Given the description of an element on the screen output the (x, y) to click on. 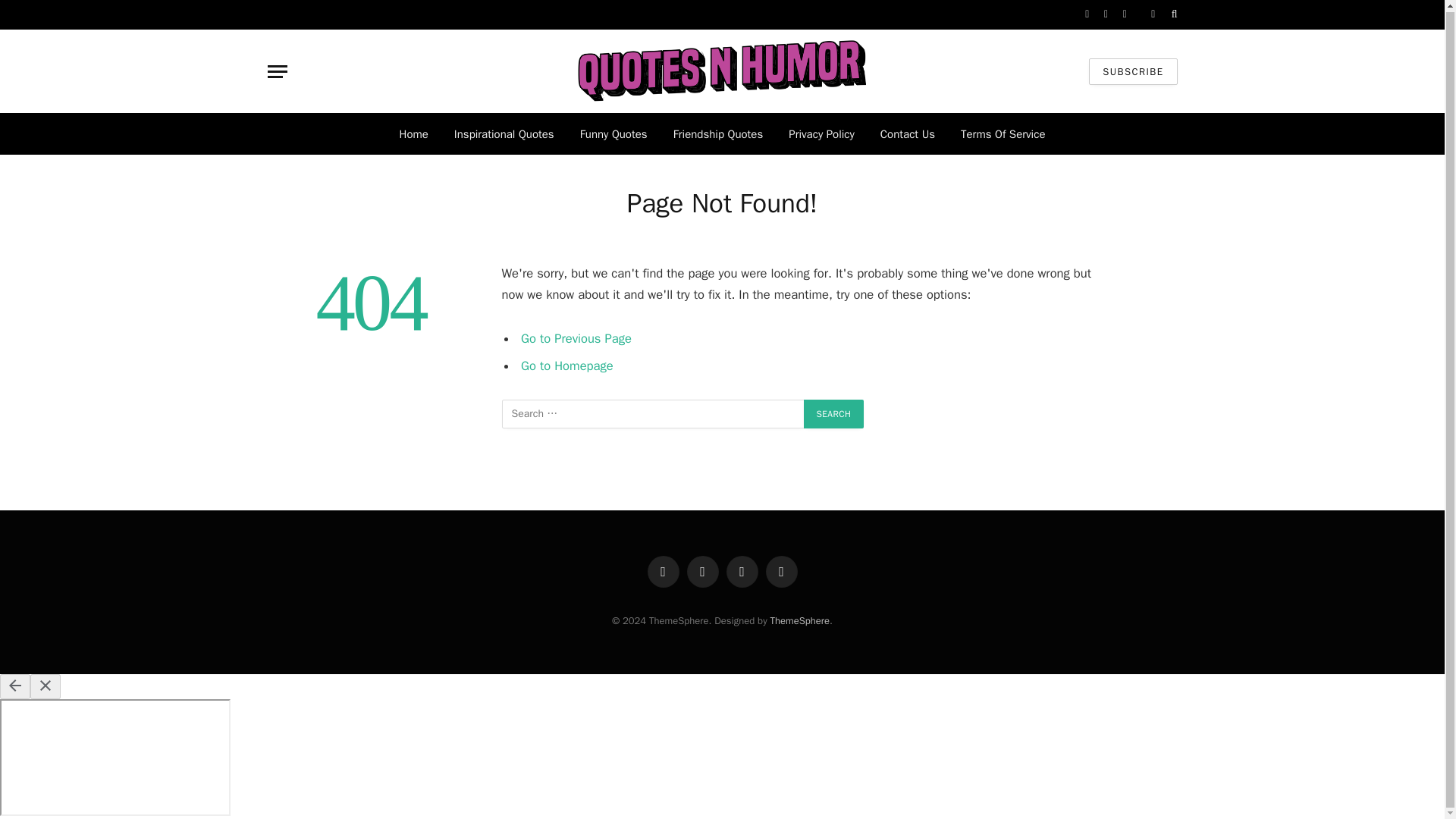
Switch to Dark Design - easier on eyes. (1152, 14)
ThemeSphere (799, 620)
Facebook (663, 572)
Contact Us (907, 133)
Go to Homepage (566, 365)
Privacy Policy (821, 133)
Search (833, 413)
Search (1173, 14)
Instagram (1125, 14)
Facebook (1087, 14)
Inspirational Quotes (504, 133)
Quotes Memes and Humor Stuff (722, 71)
Funny Quotes (614, 133)
Go to Previous Page (576, 338)
Search (833, 413)
